Given the description of an element on the screen output the (x, y) to click on. 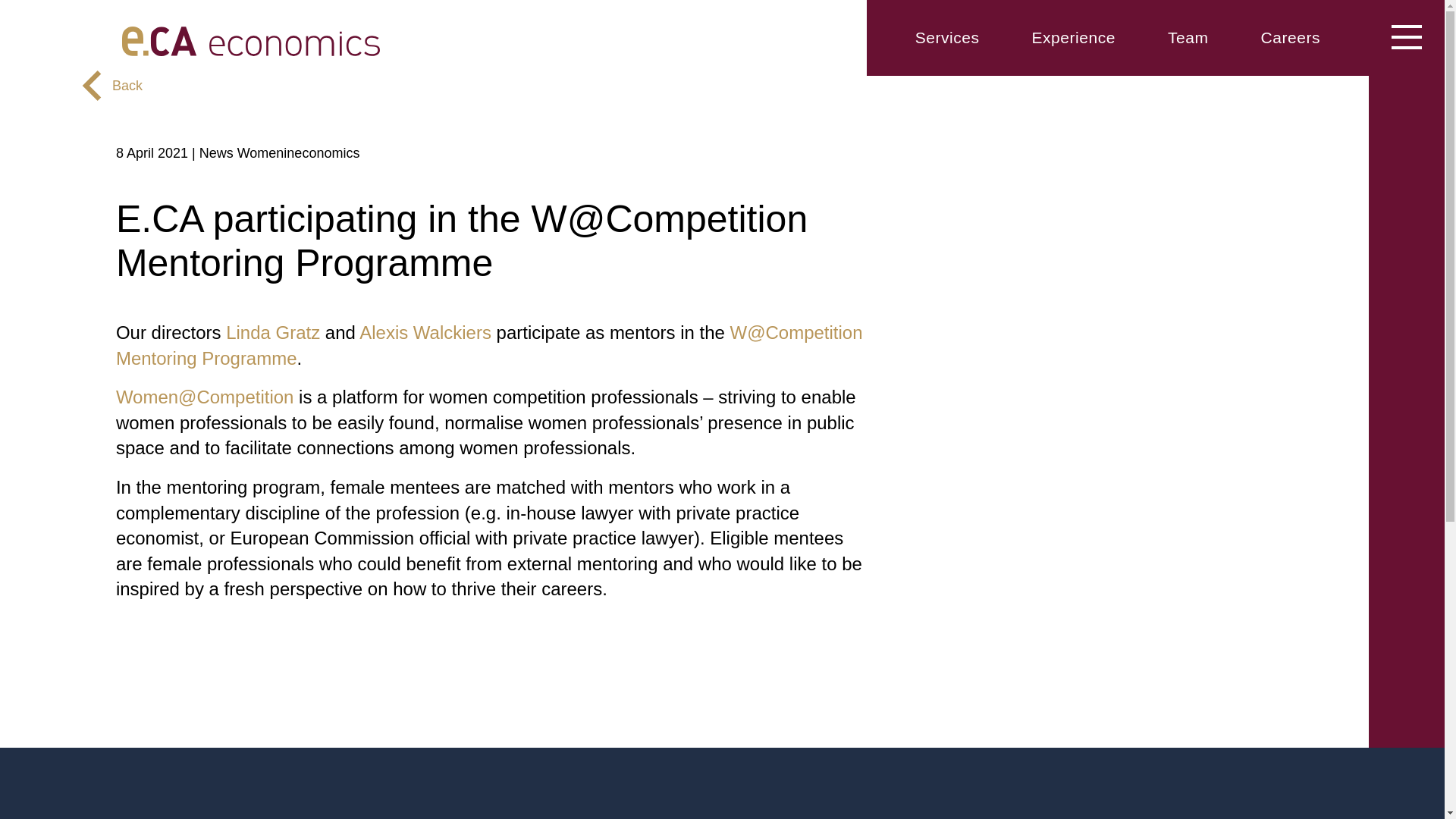
Alexis Walckiers (425, 332)
E.CA Economics (416, 41)
Team (1187, 36)
Services (947, 36)
Linda Gratz (272, 332)
Careers (1290, 36)
Experience (1072, 36)
Back (116, 85)
